Given the description of an element on the screen output the (x, y) to click on. 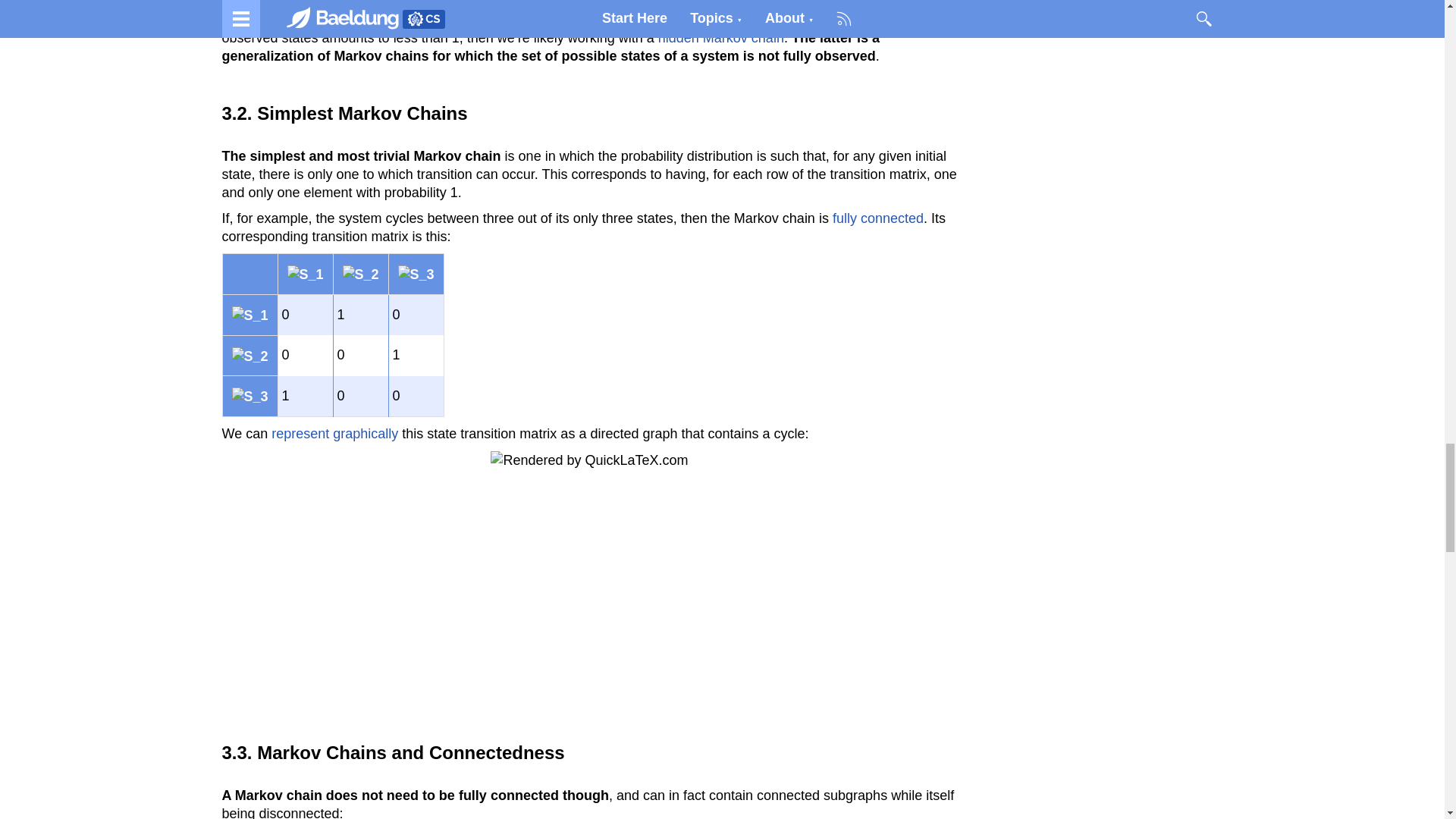
fully connected (877, 218)
represent graphically (333, 433)
hidden Markov chain (721, 37)
